Given the description of an element on the screen output the (x, y) to click on. 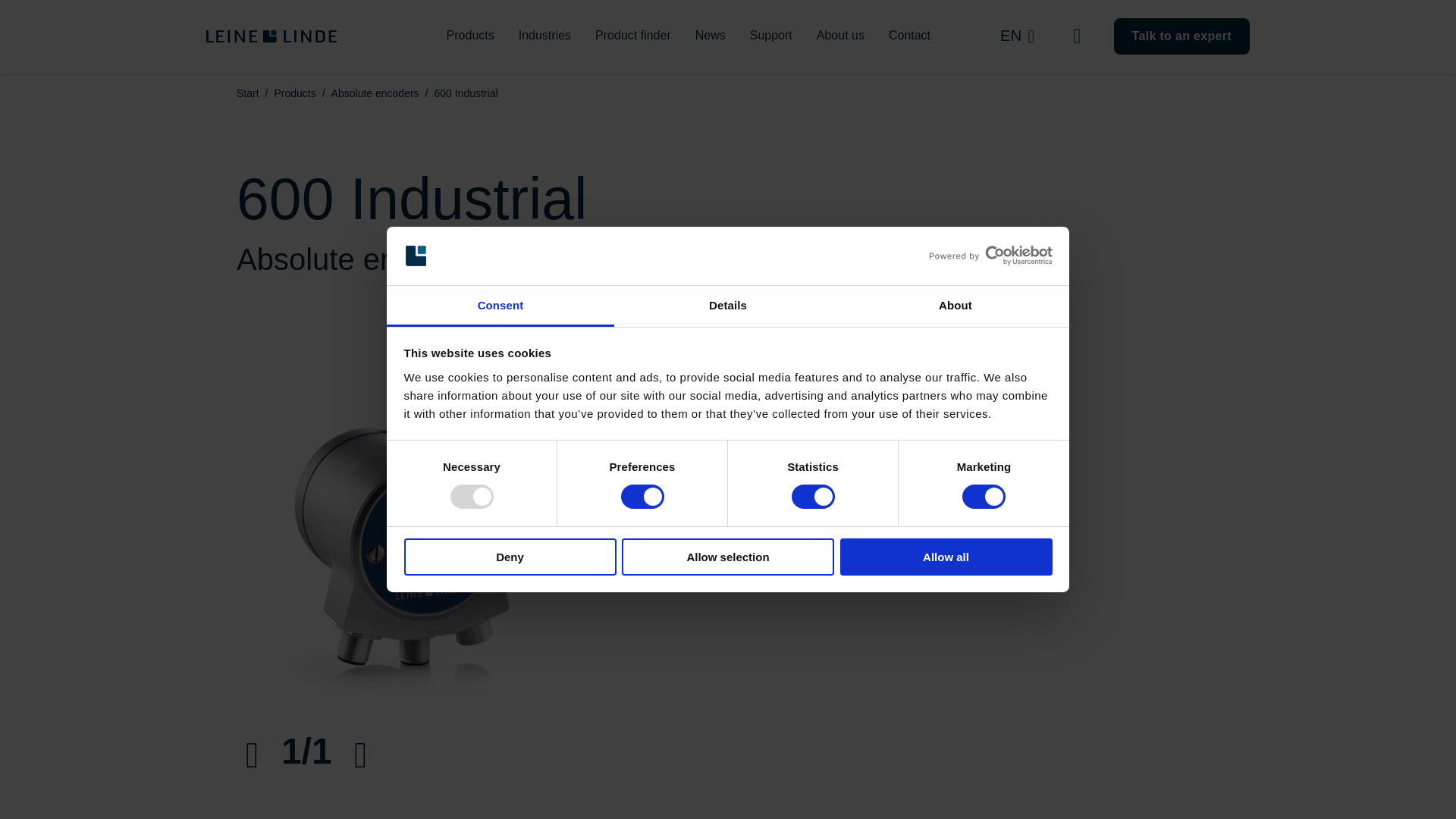
Details (727, 305)
Consent (500, 305)
Deny (509, 556)
Search (1077, 36)
Allow selection (727, 556)
About (954, 305)
